Given the description of an element on the screen output the (x, y) to click on. 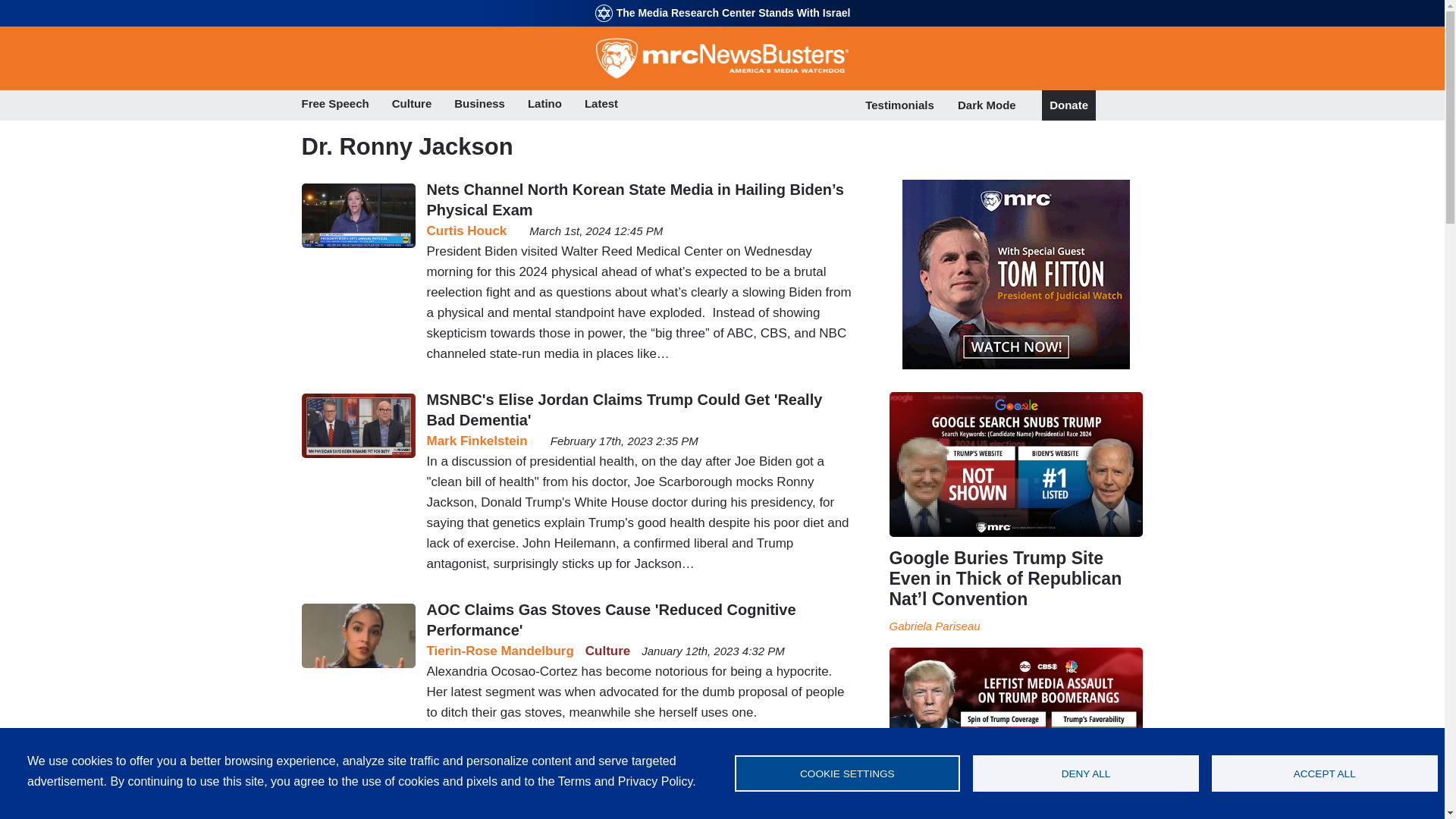
Dark Mode (987, 104)
Business (479, 105)
Joe Scarborough John Heilemann MSNBC Morning Joe 2-17-23 (357, 425)
ACCEPT ALL (1324, 773)
Latino (544, 105)
Latest (601, 105)
Free Speech (335, 105)
DENY ALL (1085, 773)
Donate (1068, 105)
Skip to main content (721, 1)
Culture (411, 105)
COOKIE SETTINGS (846, 773)
Testimonials (899, 104)
